Given the description of an element on the screen output the (x, y) to click on. 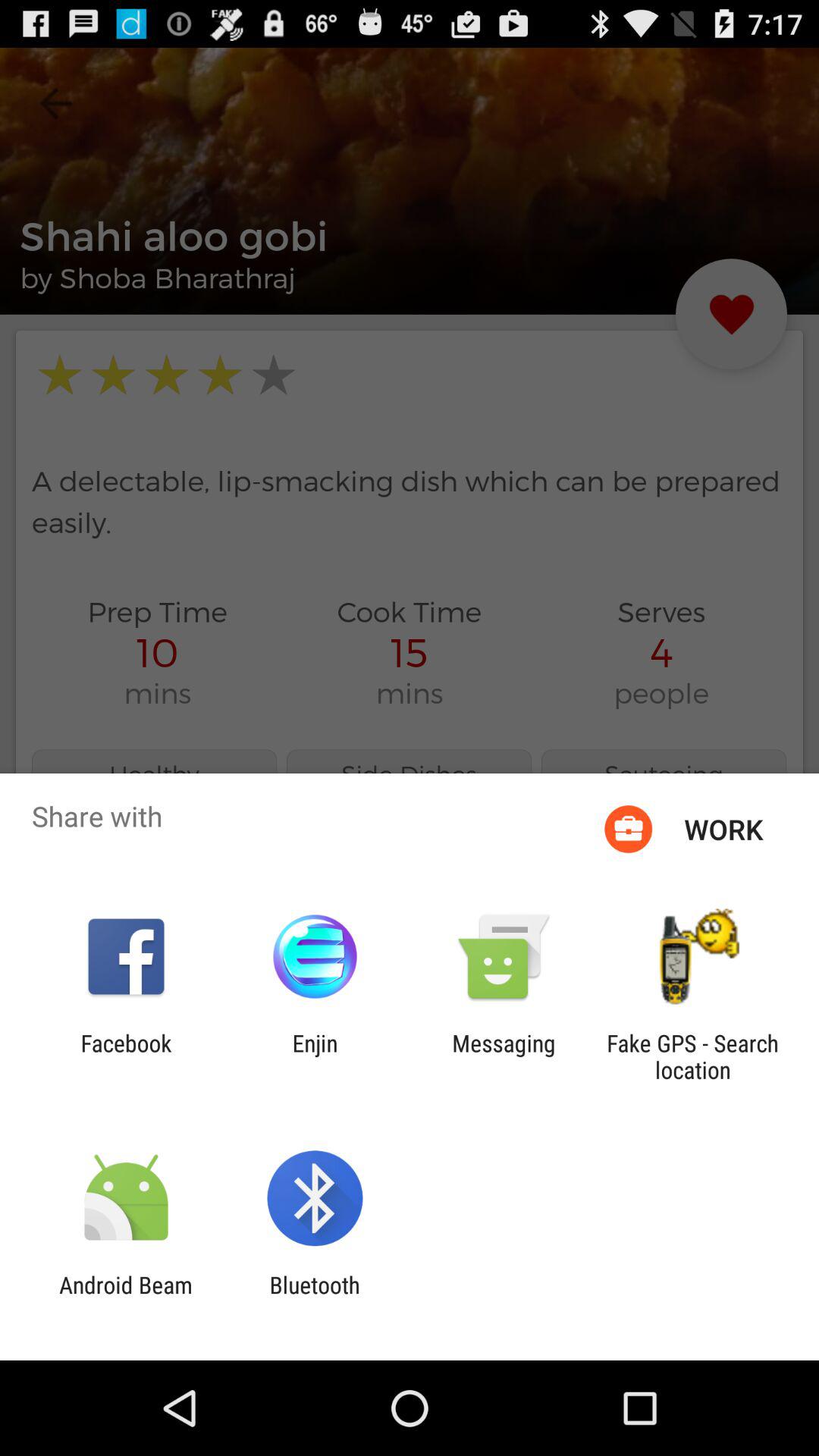
choose the app next to the enjin item (503, 1056)
